Given the description of an element on the screen output the (x, y) to click on. 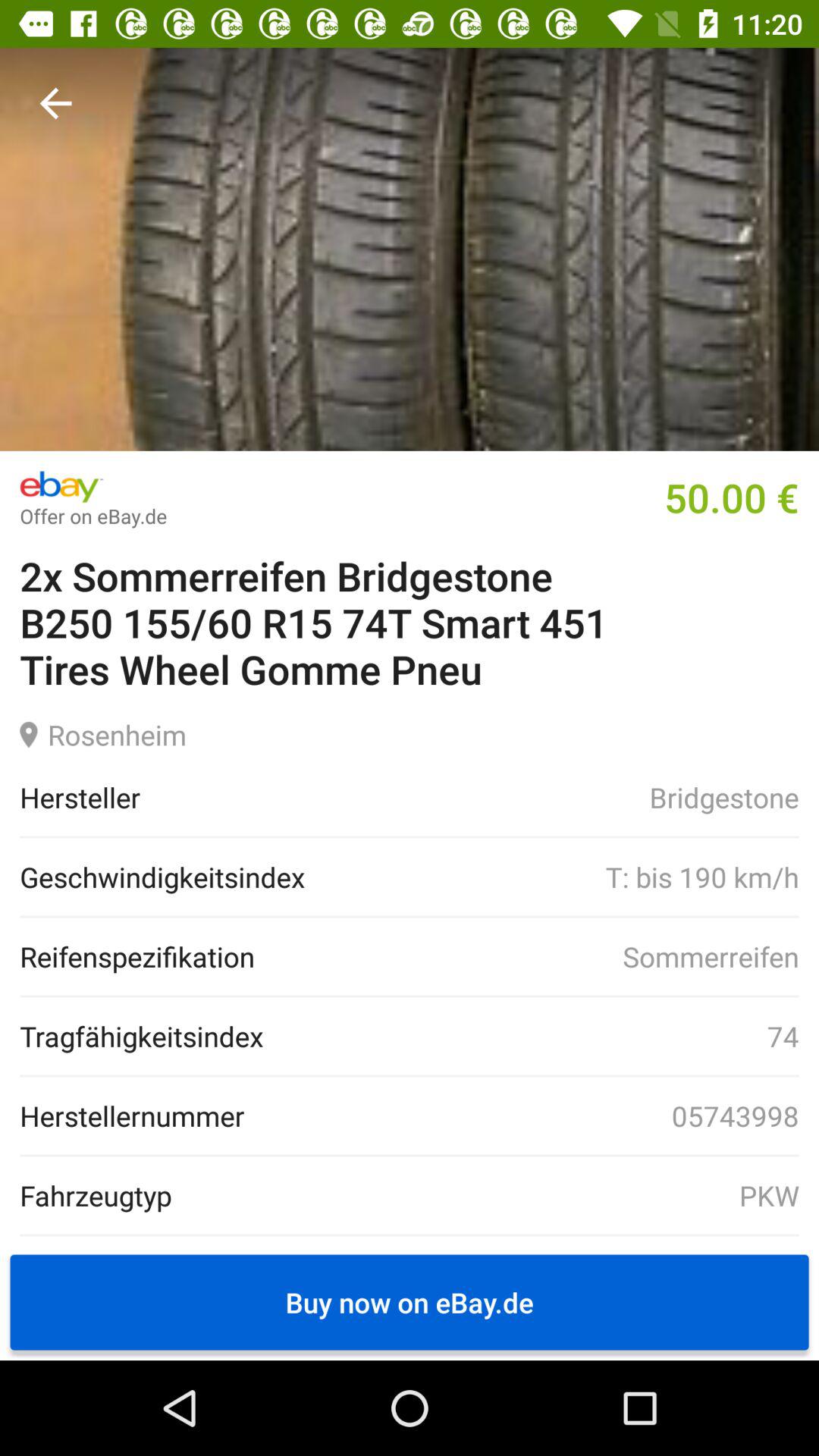
open picture (409, 249)
